Given the description of an element on the screen output the (x, y) to click on. 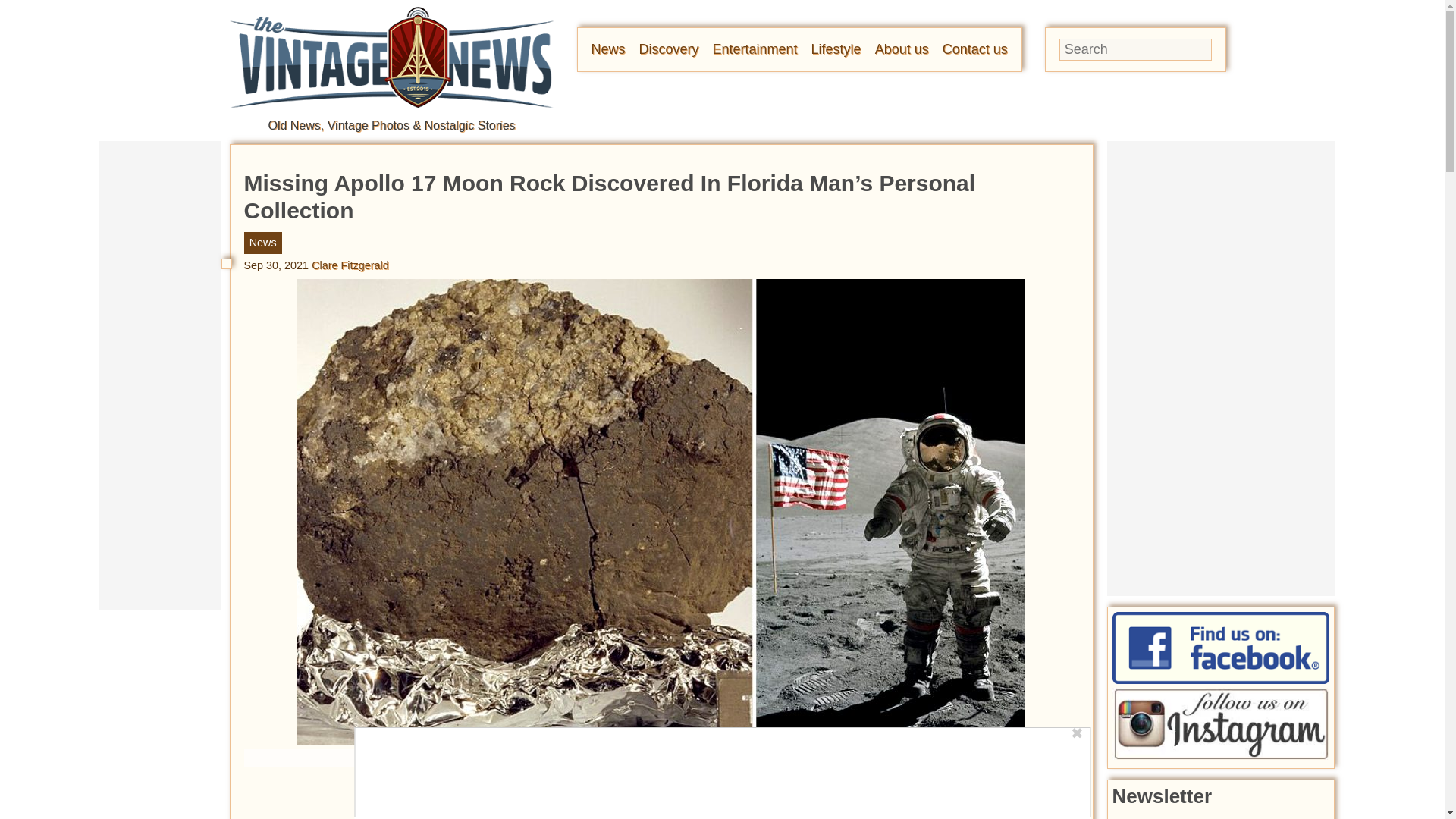
About us (901, 48)
Discovery (668, 48)
Contact us (974, 48)
Entertainment (755, 48)
Lifestyle (835, 48)
News (608, 48)
